Given the description of an element on the screen output the (x, y) to click on. 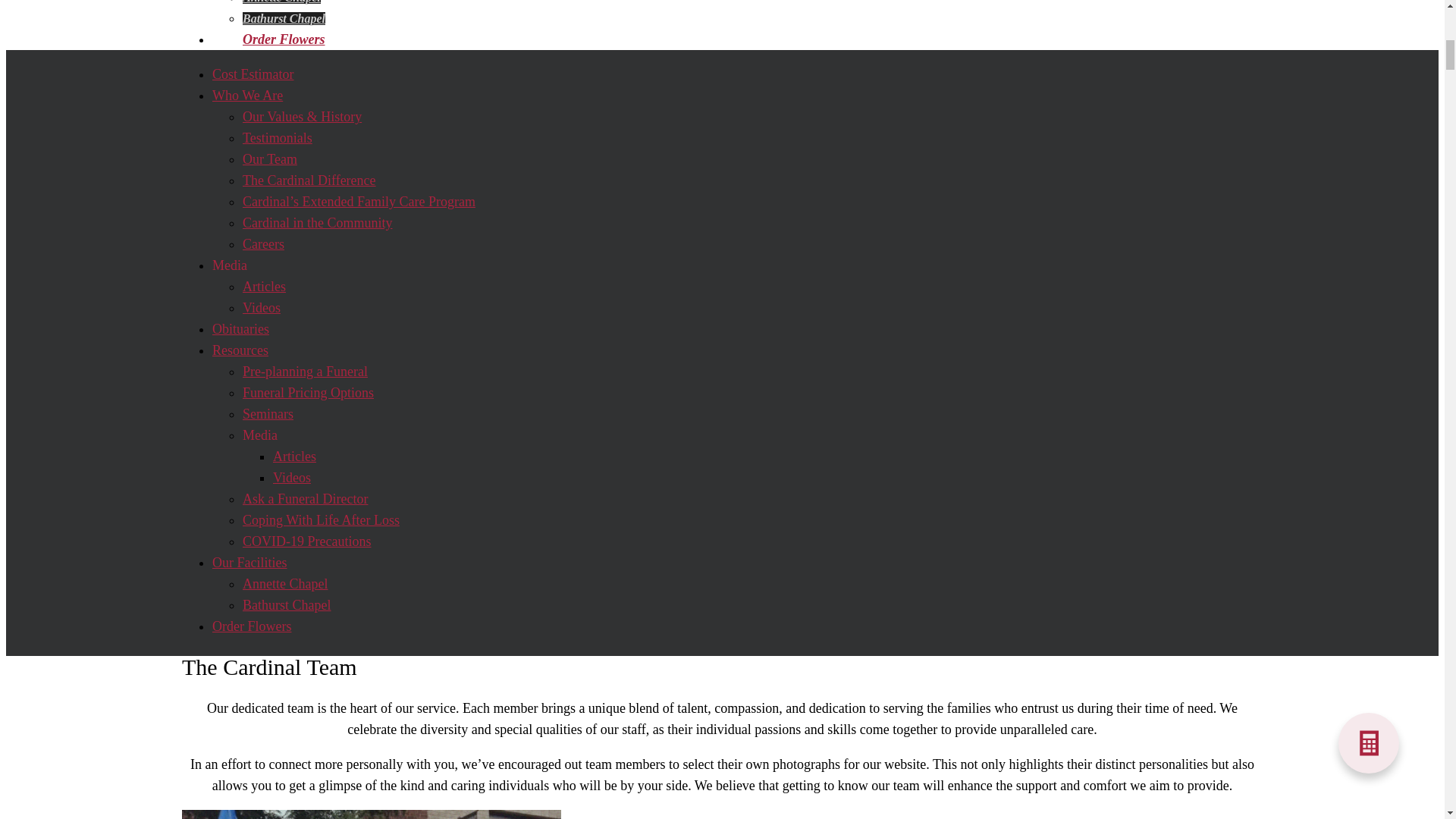
Our Facilities (266, 7)
Annette Chapel (281, 2)
Testimonials (278, 137)
Bathurst Chapel (283, 18)
Cost Estimator (253, 73)
Order Flowers (283, 38)
Our Team (270, 159)
Who We Are (247, 95)
The Cardinal Difference (309, 180)
